Given the description of an element on the screen output the (x, y) to click on. 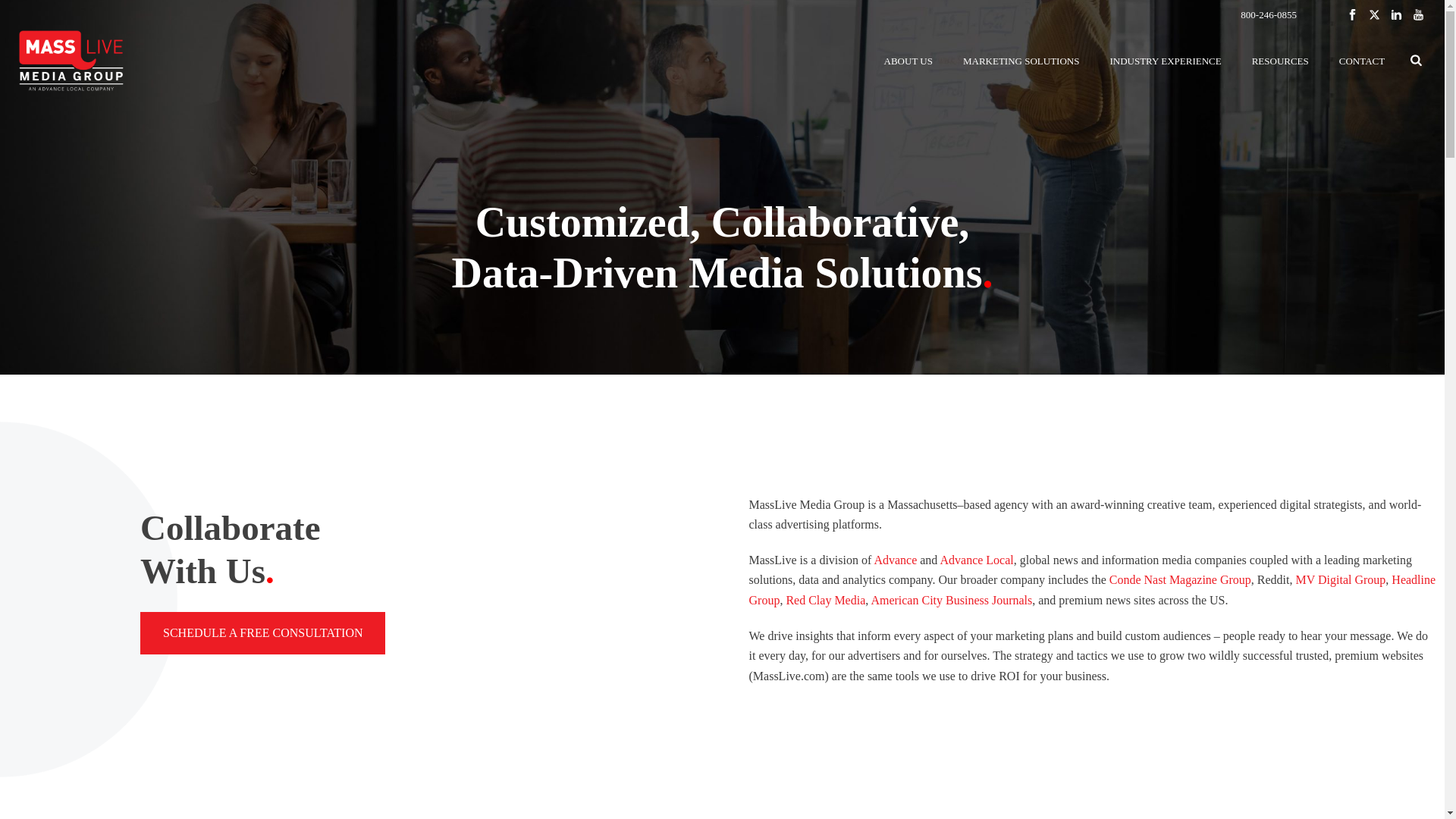
MARKETING SOLUTIONS (1020, 61)
ABOUT US (908, 61)
RESOURCES (1279, 61)
INDUSTRY EXPERIENCE (1165, 61)
MARKETING SOLUTIONS (1020, 61)
RESOURCES (1279, 61)
CONTACT (1361, 61)
INDUSTRY EXPERIENCE (1165, 61)
CONTACT (1361, 61)
800-246-0855 (1268, 14)
ABOUT US (908, 61)
